Given the description of an element on the screen output the (x, y) to click on. 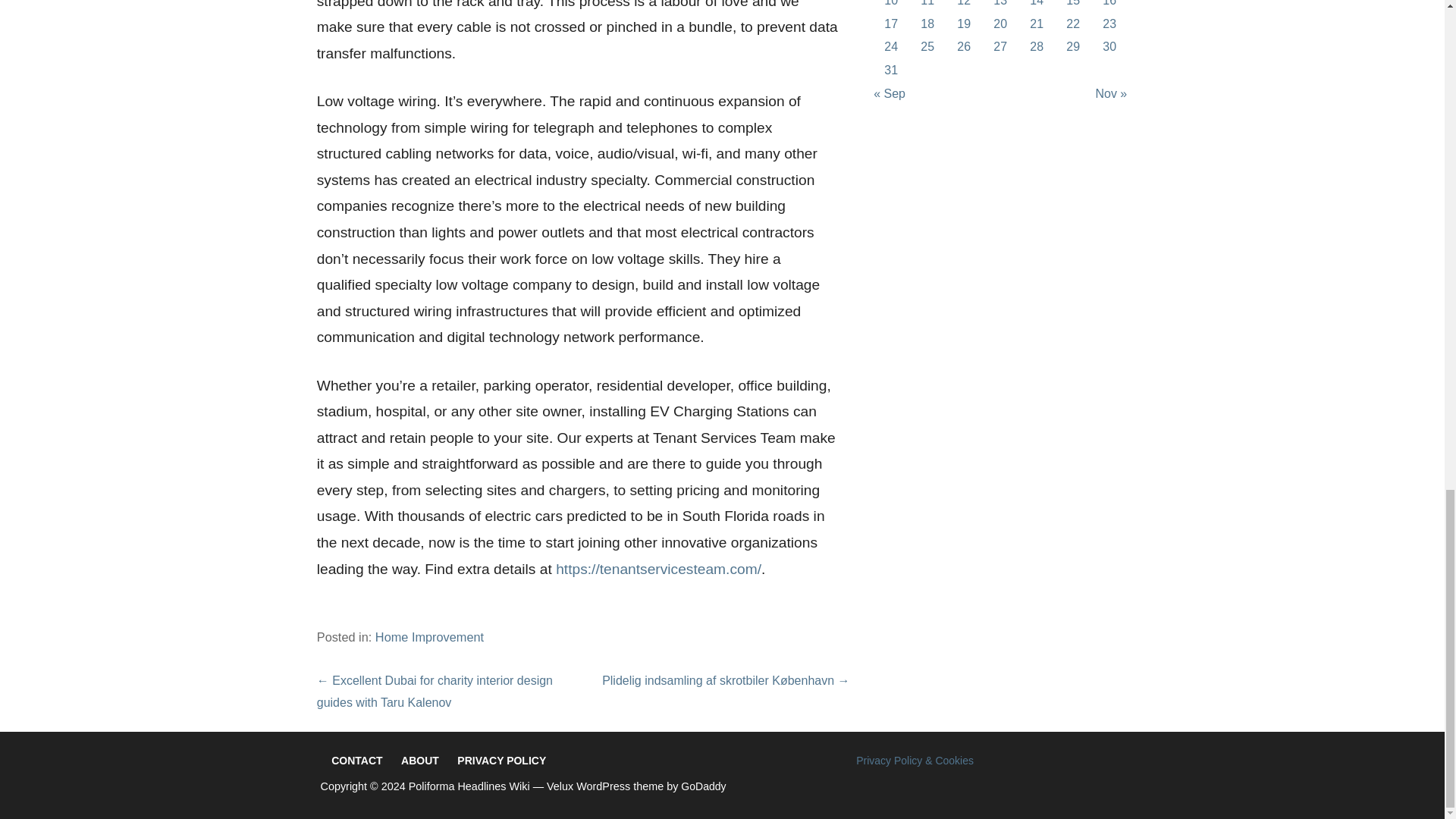
10 (890, 3)
Home Improvement (429, 636)
11 (927, 3)
